Given the description of an element on the screen output the (x, y) to click on. 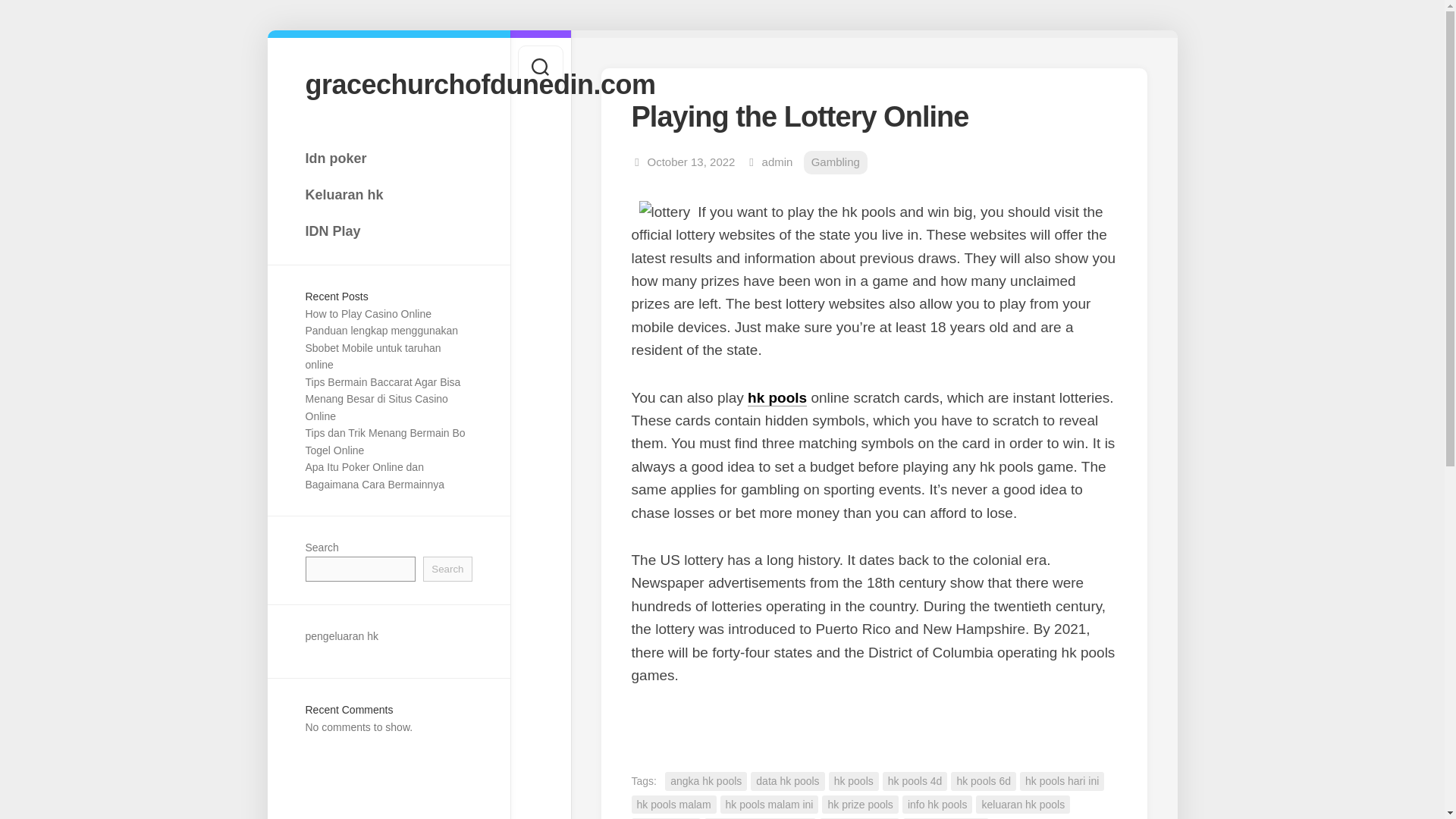
admin (777, 161)
Apa Itu Poker Online dan Bagaimana Cara Bermainnya (374, 475)
pengeluaran hk (341, 635)
gracechurchofdunedin.com (387, 83)
Keluaran hk (387, 194)
hk pools malam ini (769, 804)
live hk pools (665, 818)
hk pools (853, 781)
Idn poker (387, 158)
angka hk pools (705, 781)
Tips dan Trik Menang Bermain Bo Togel Online (384, 441)
hk pools malam (673, 804)
